Given the description of an element on the screen output the (x, y) to click on. 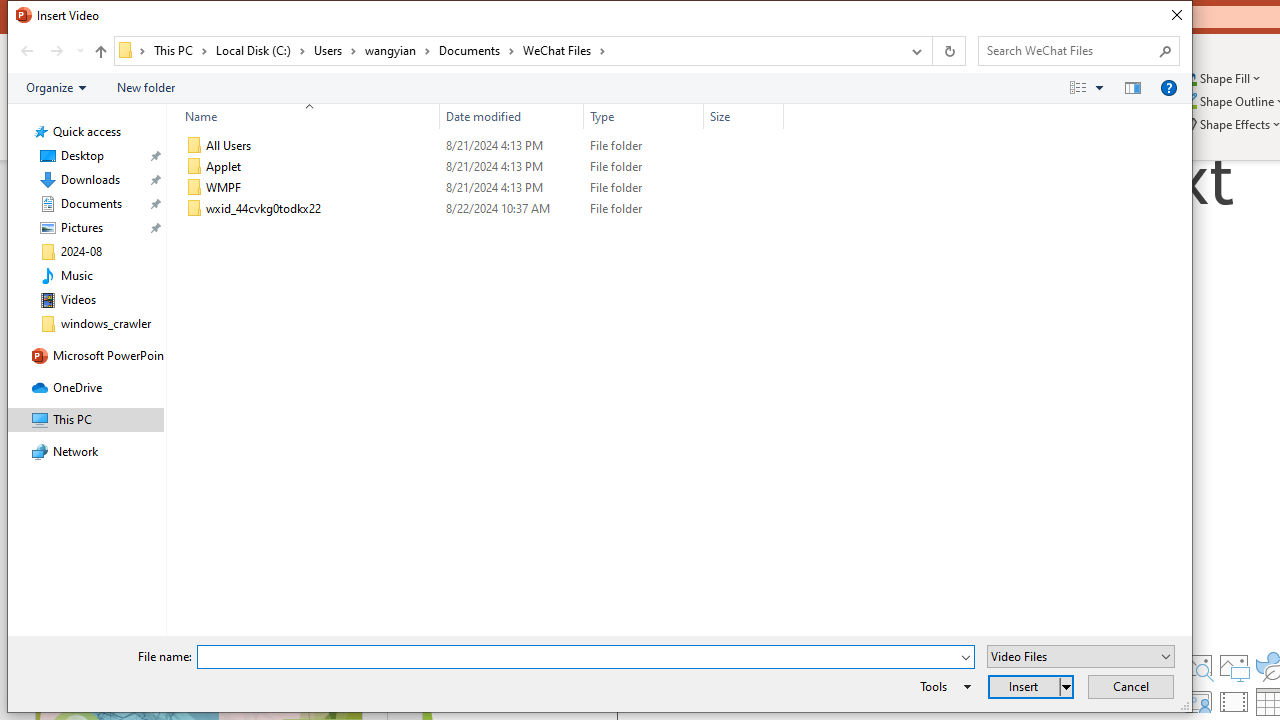
File name: (586, 656)
View Slider (1099, 87)
Search Box (1069, 50)
Date modified (511, 209)
Size (743, 115)
wxid_44cvkg0todkx22 (480, 209)
This PC (180, 50)
Views (1090, 87)
Refresh "WeChat Files" (F5) (948, 51)
